Given the description of an element on the screen output the (x, y) to click on. 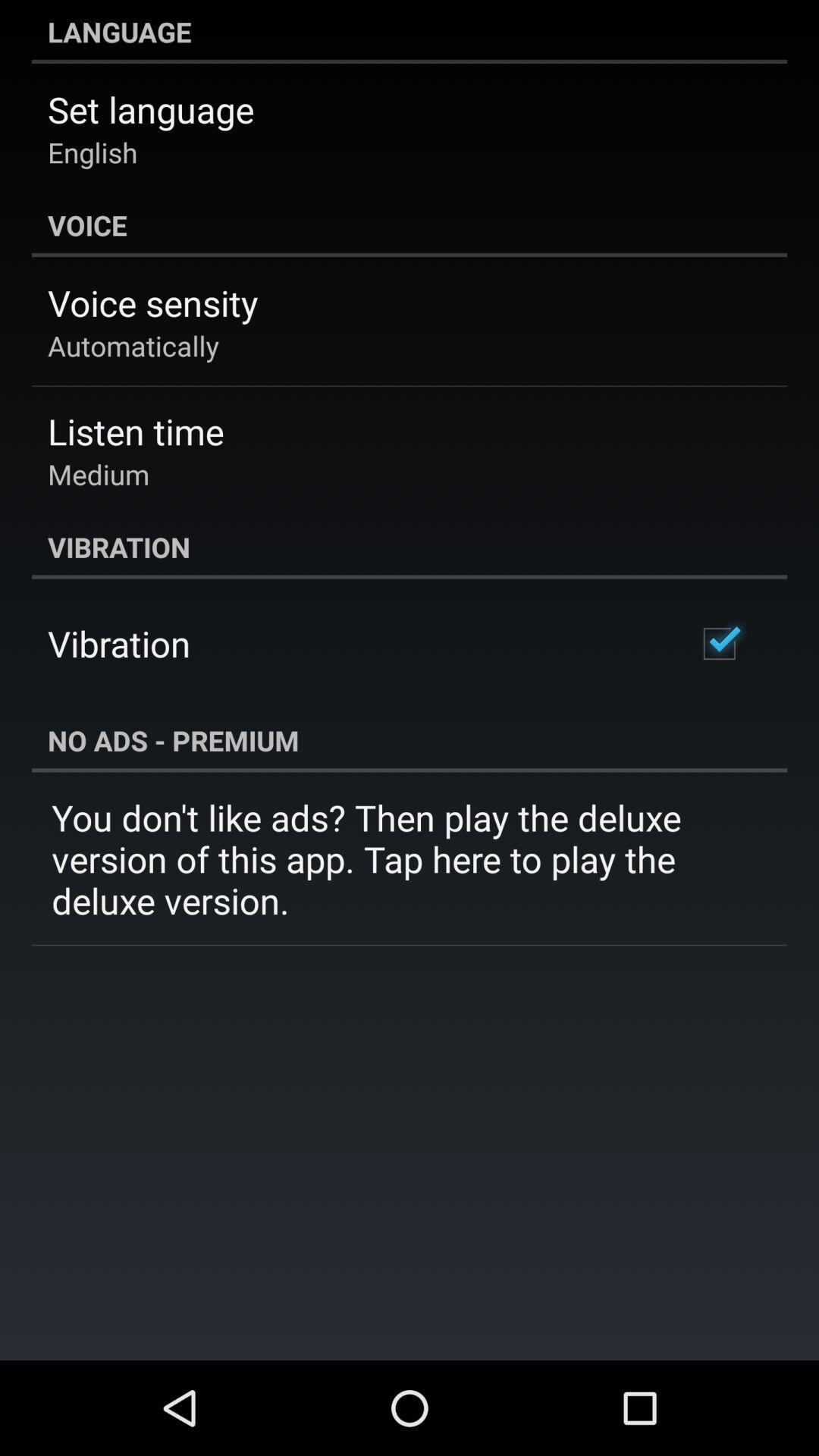
choose the icon above medium app (135, 431)
